Given the description of an element on the screen output the (x, y) to click on. 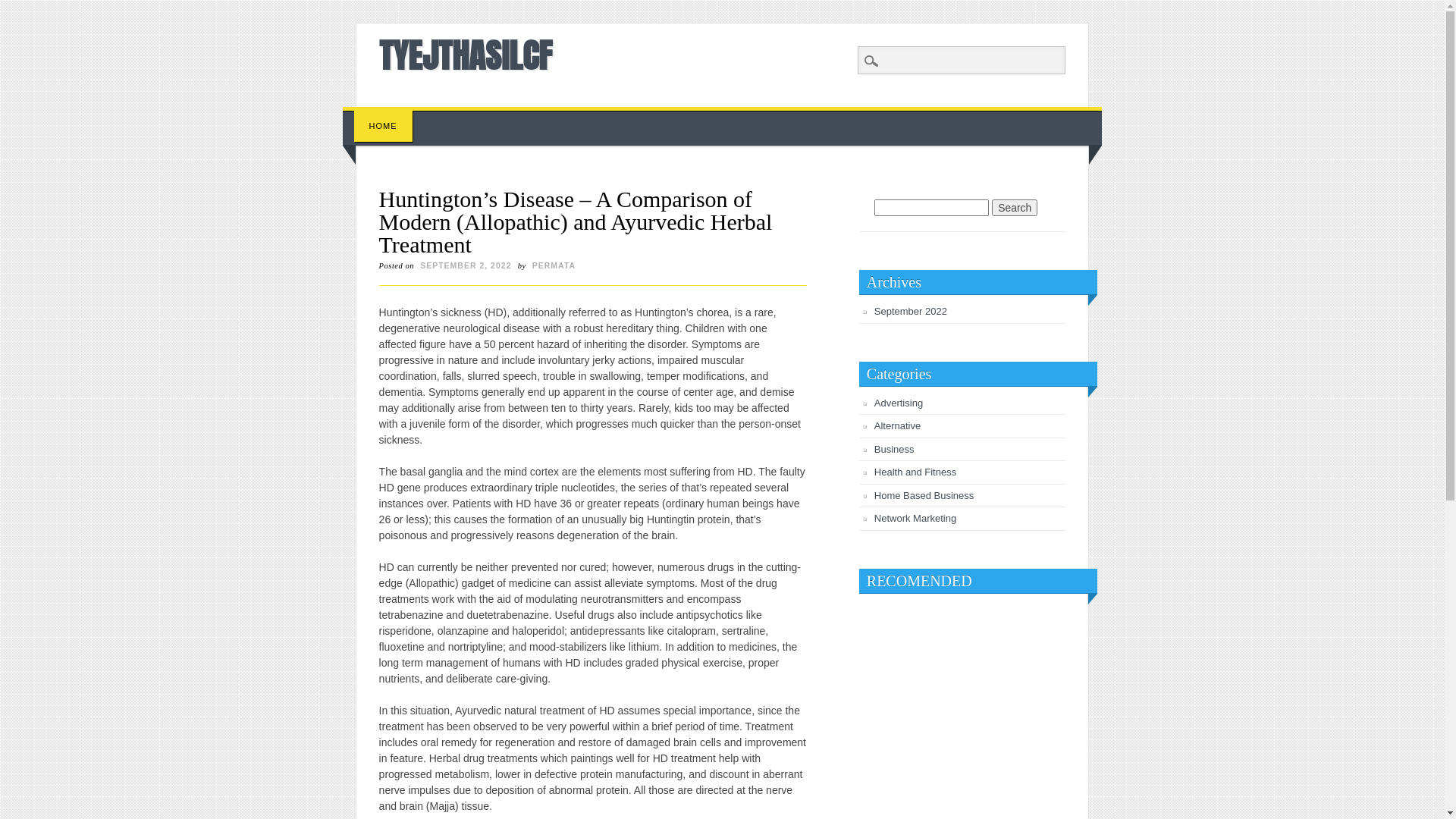
Advertising Element type: text (898, 402)
September 2022 Element type: text (910, 310)
Home Based Business Element type: text (924, 495)
PERMATA Element type: text (553, 264)
Alternative Element type: text (897, 425)
Search Element type: text (1014, 207)
Search Element type: text (22, 8)
Business Element type: text (894, 449)
Health and Fitness Element type: text (915, 471)
HOME Element type: text (383, 125)
SEPTEMBER 2, 2022 Element type: text (465, 264)
TYEJTHASILCF Element type: text (465, 55)
Skip to content Element type: text (377, 114)
Network Marketing Element type: text (915, 518)
